Given the description of an element on the screen output the (x, y) to click on. 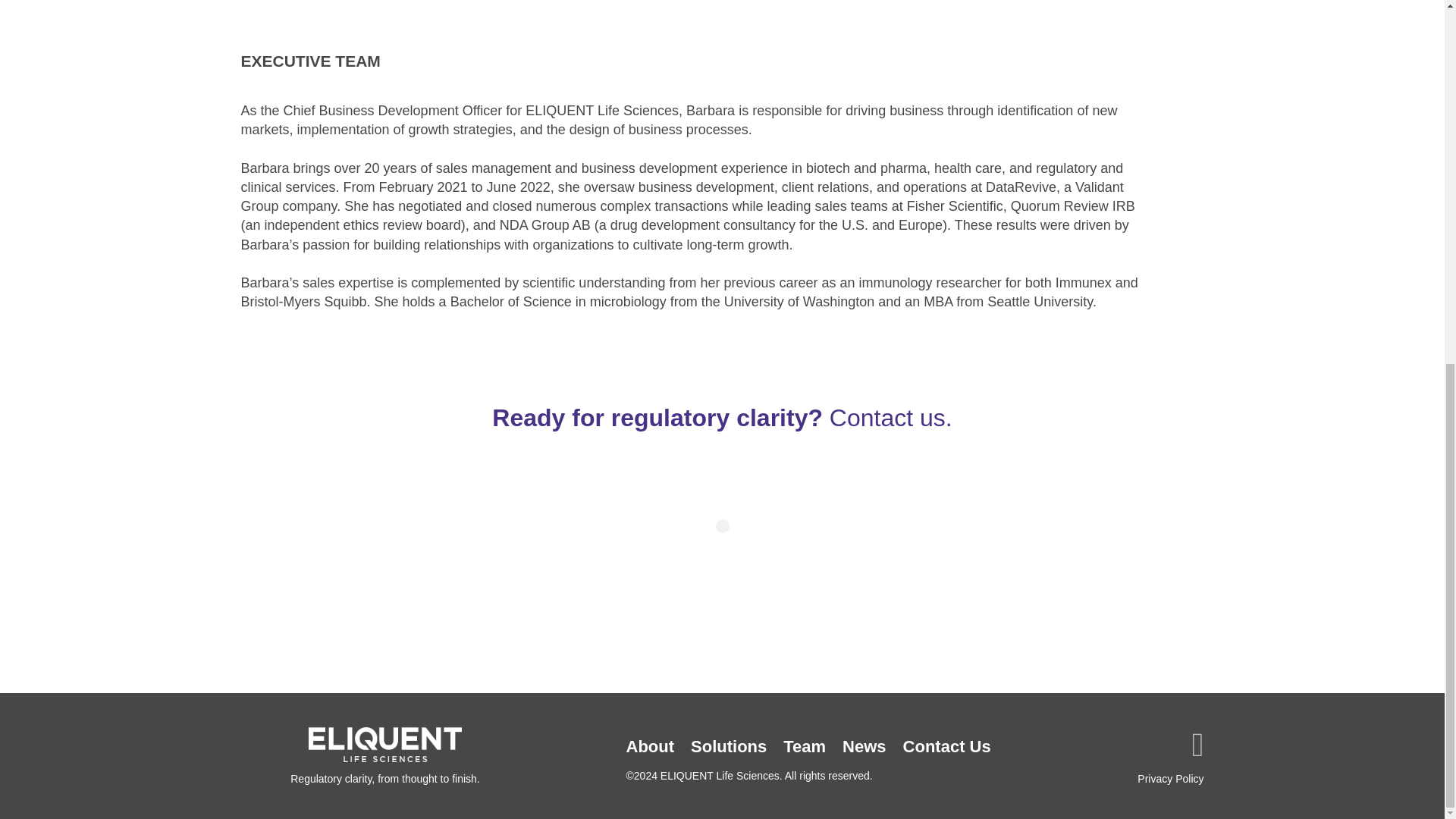
About (650, 746)
Contact Us (946, 746)
Solutions (728, 746)
Privacy Policy (1145, 778)
Team (804, 746)
News (864, 746)
